Given the description of an element on the screen output the (x, y) to click on. 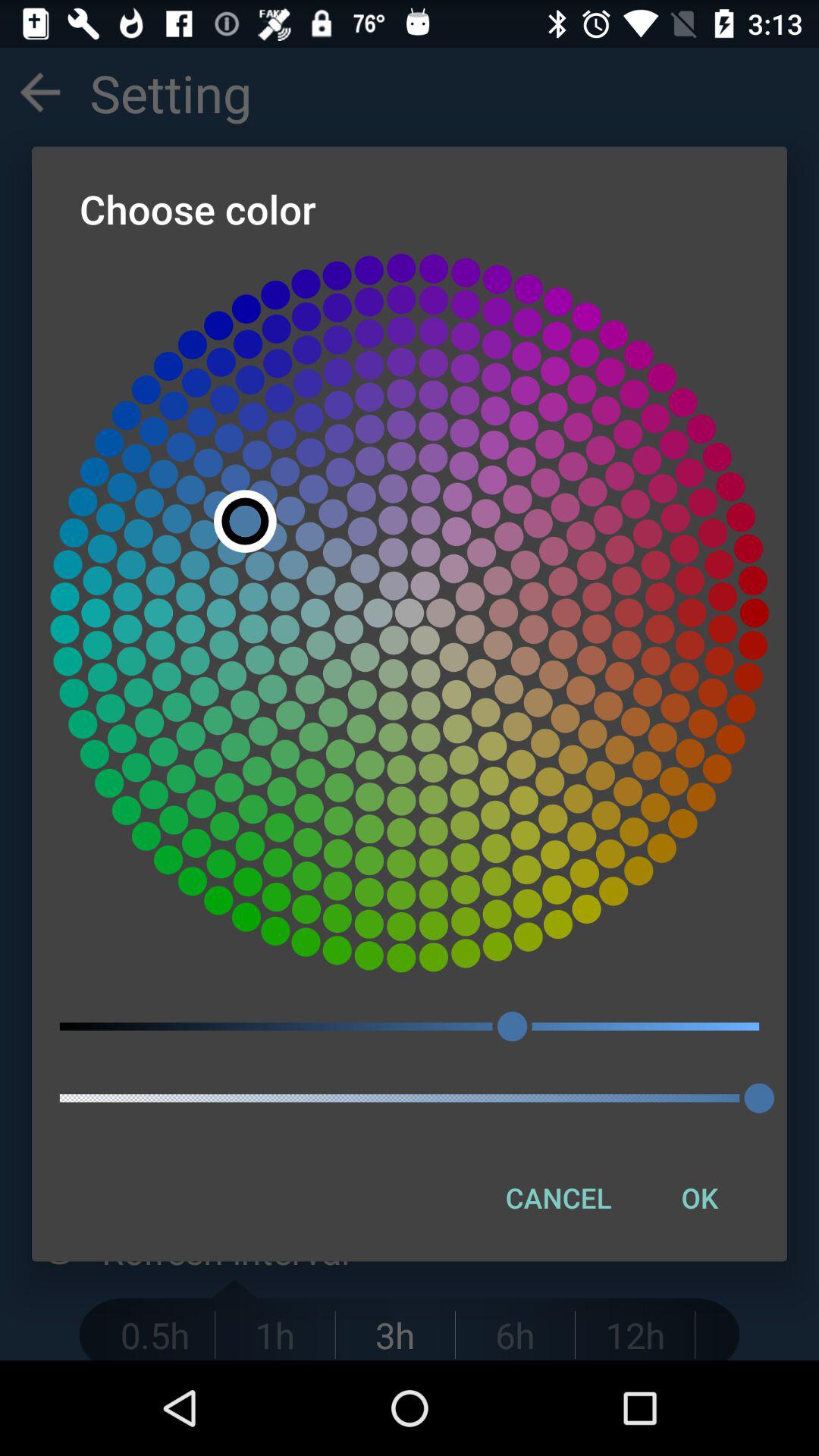
scroll until cancel (558, 1197)
